Given the description of an element on the screen output the (x, y) to click on. 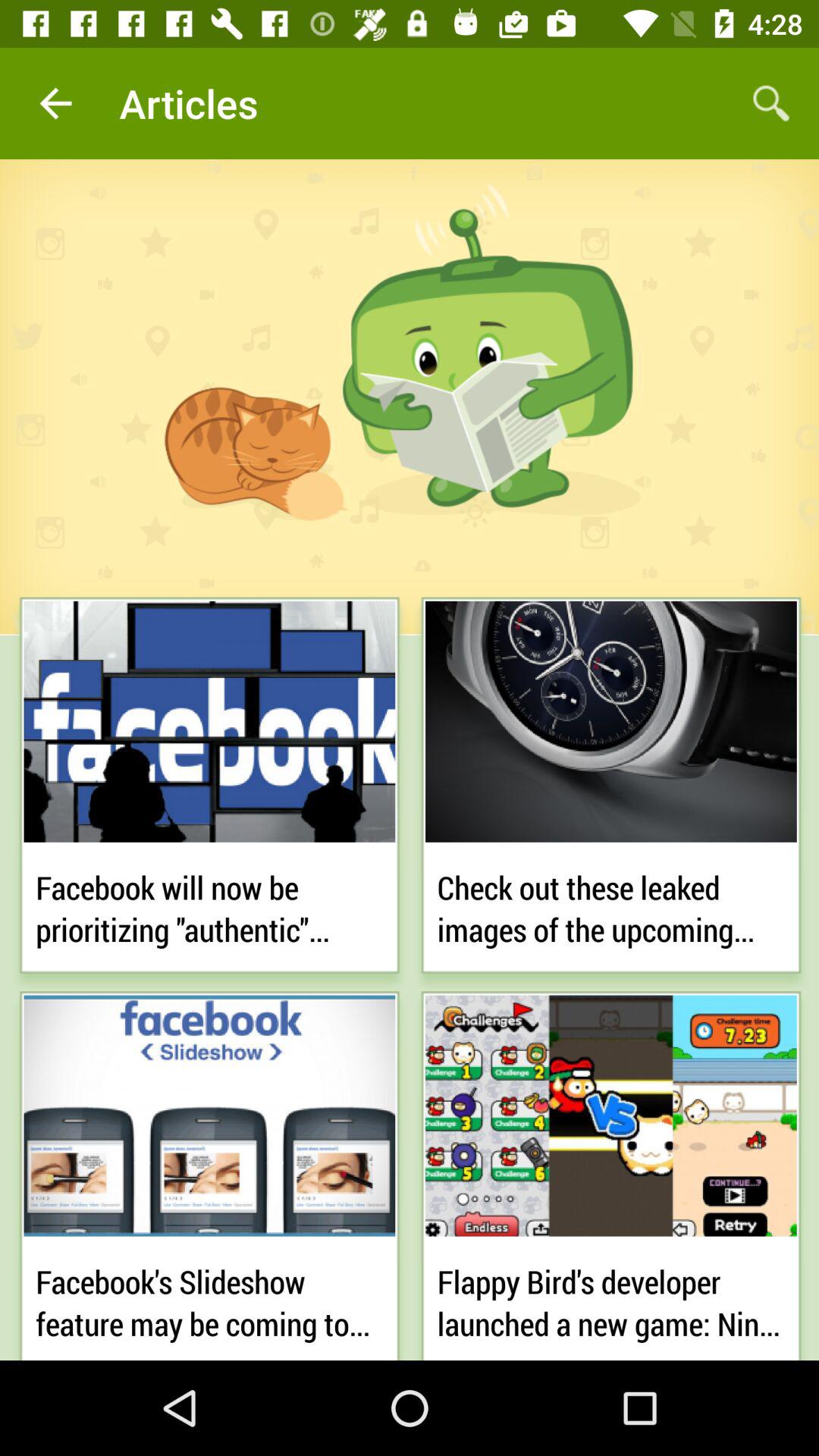
turn off the item at the top right corner (771, 103)
